Given the description of an element on the screen output the (x, y) to click on. 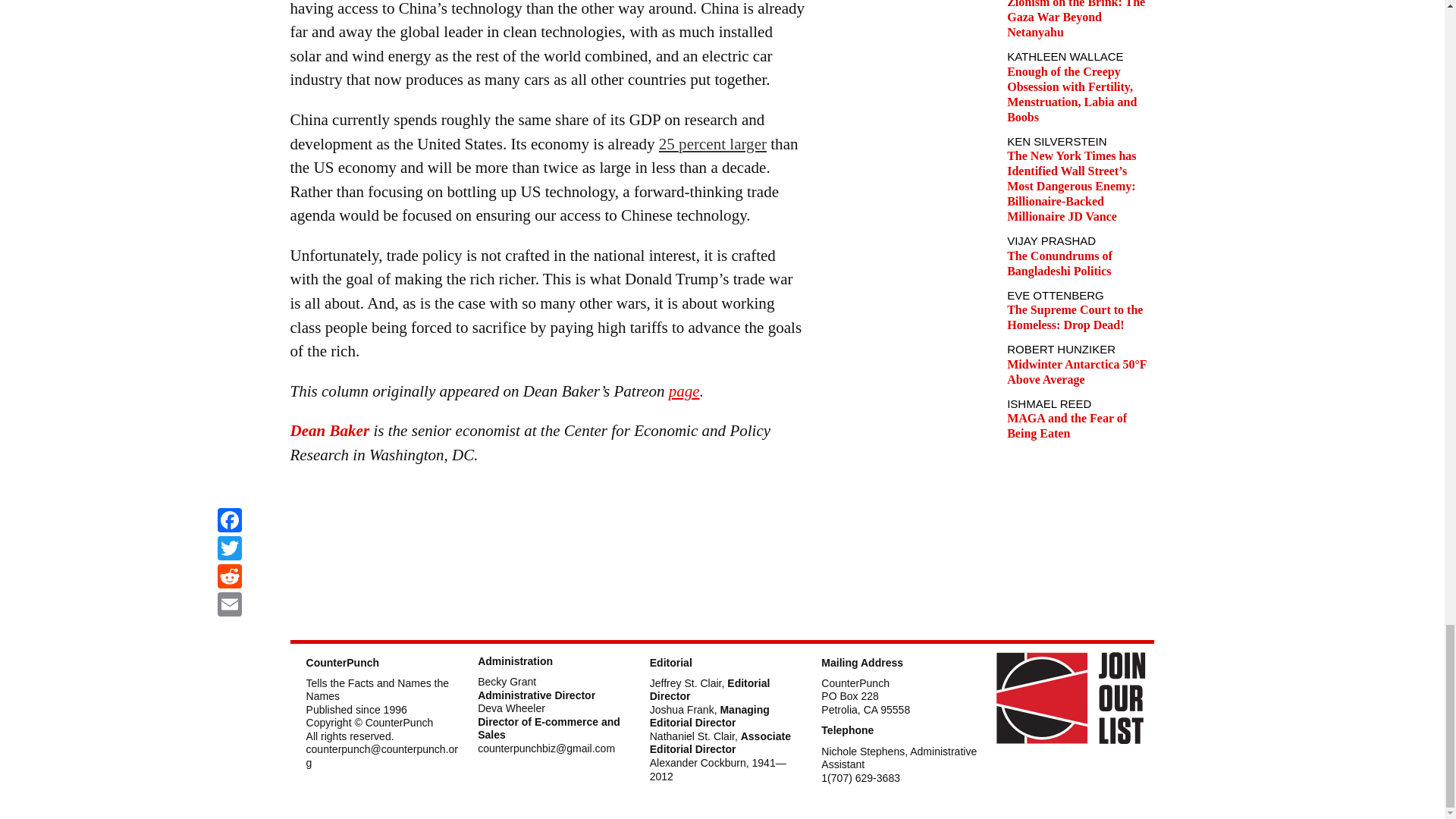
page (684, 391)
Dean Baker (329, 430)
25 percent larger (713, 144)
